Given the description of an element on the screen output the (x, y) to click on. 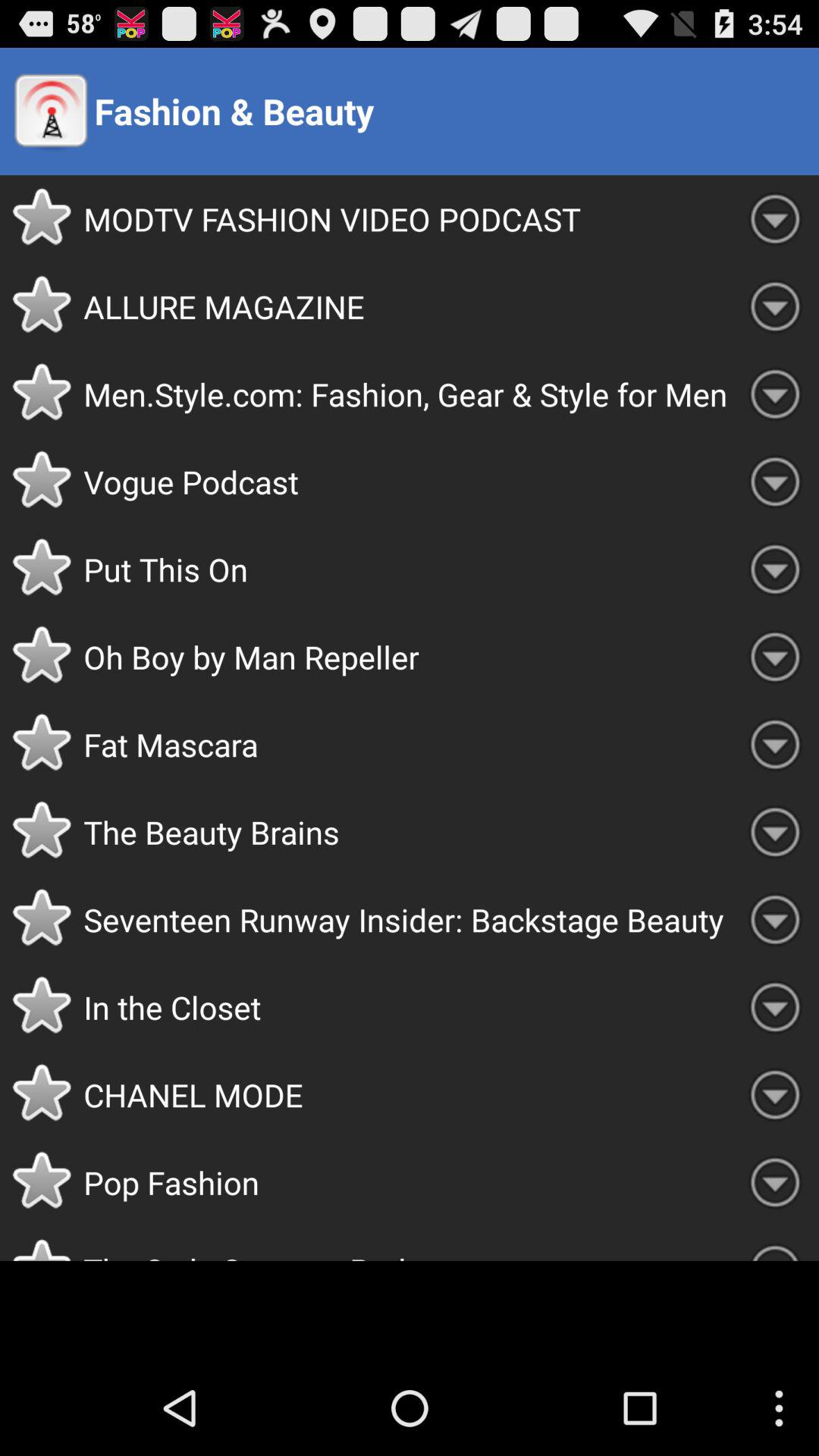
click icon below the vogue podcast app (407, 569)
